Given the description of an element on the screen output the (x, y) to click on. 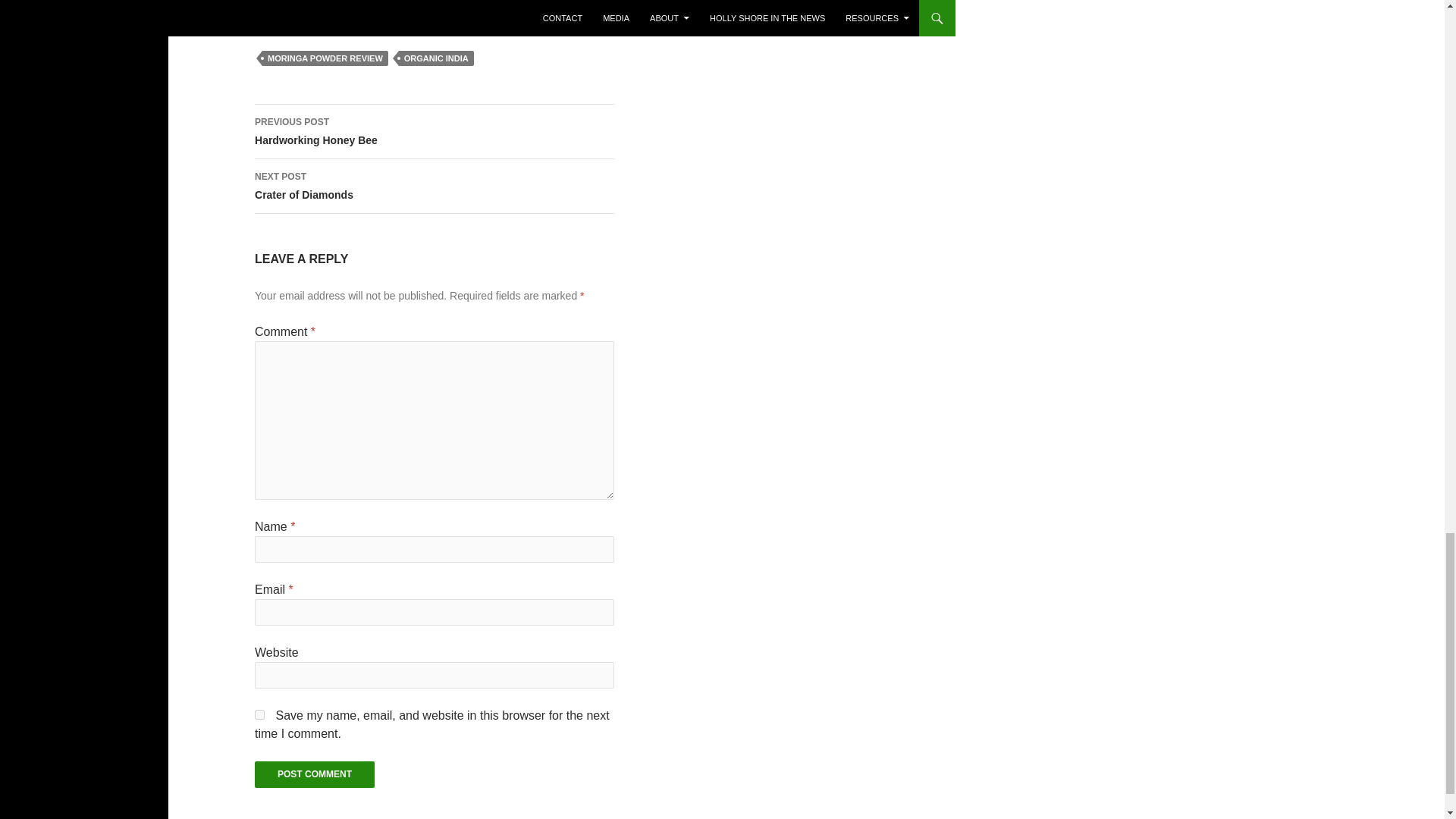
Post Comment (314, 774)
yes (259, 714)
